Given the description of an element on the screen output the (x, y) to click on. 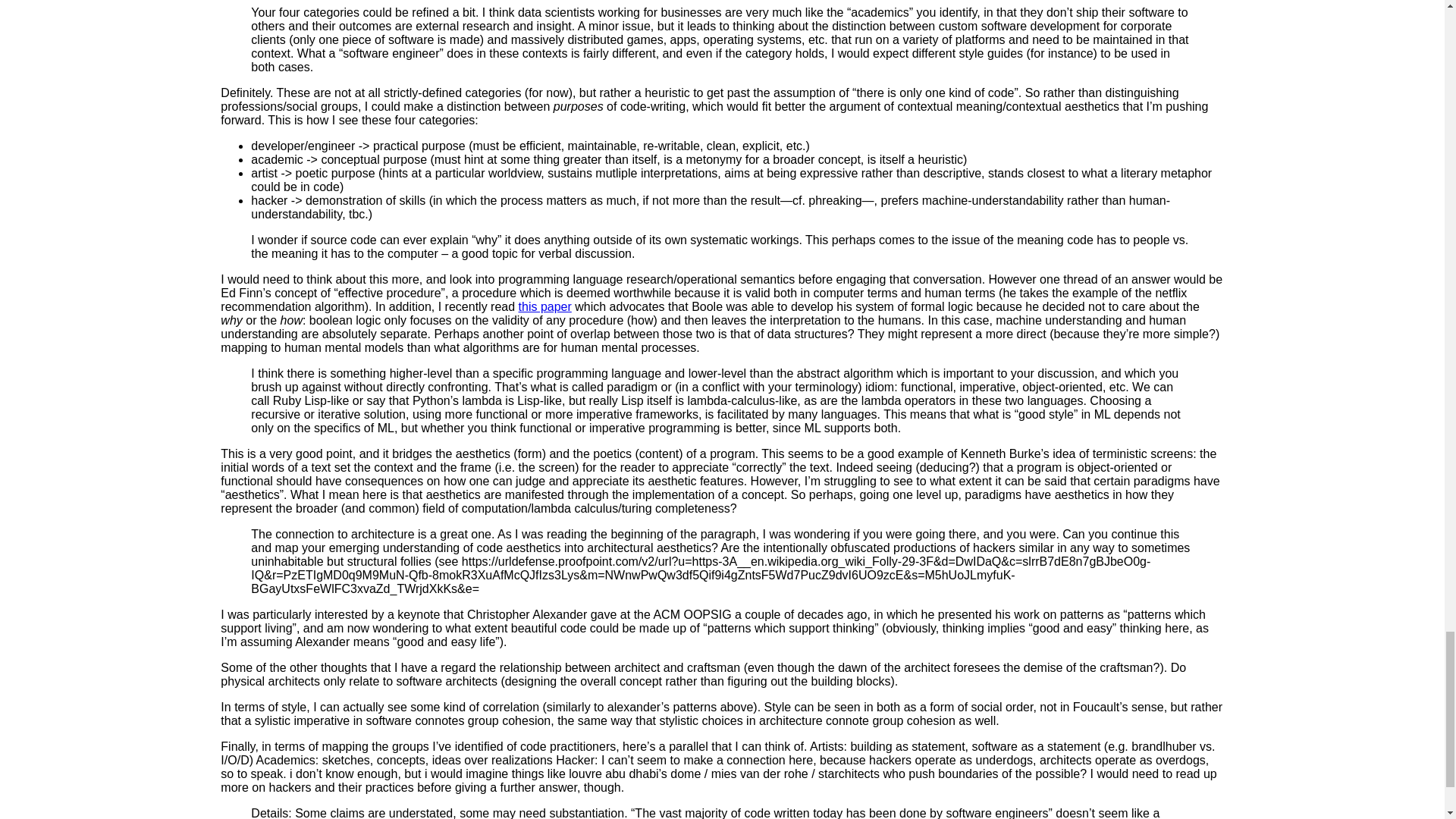
this paper (545, 306)
